Given the description of an element on the screen output the (x, y) to click on. 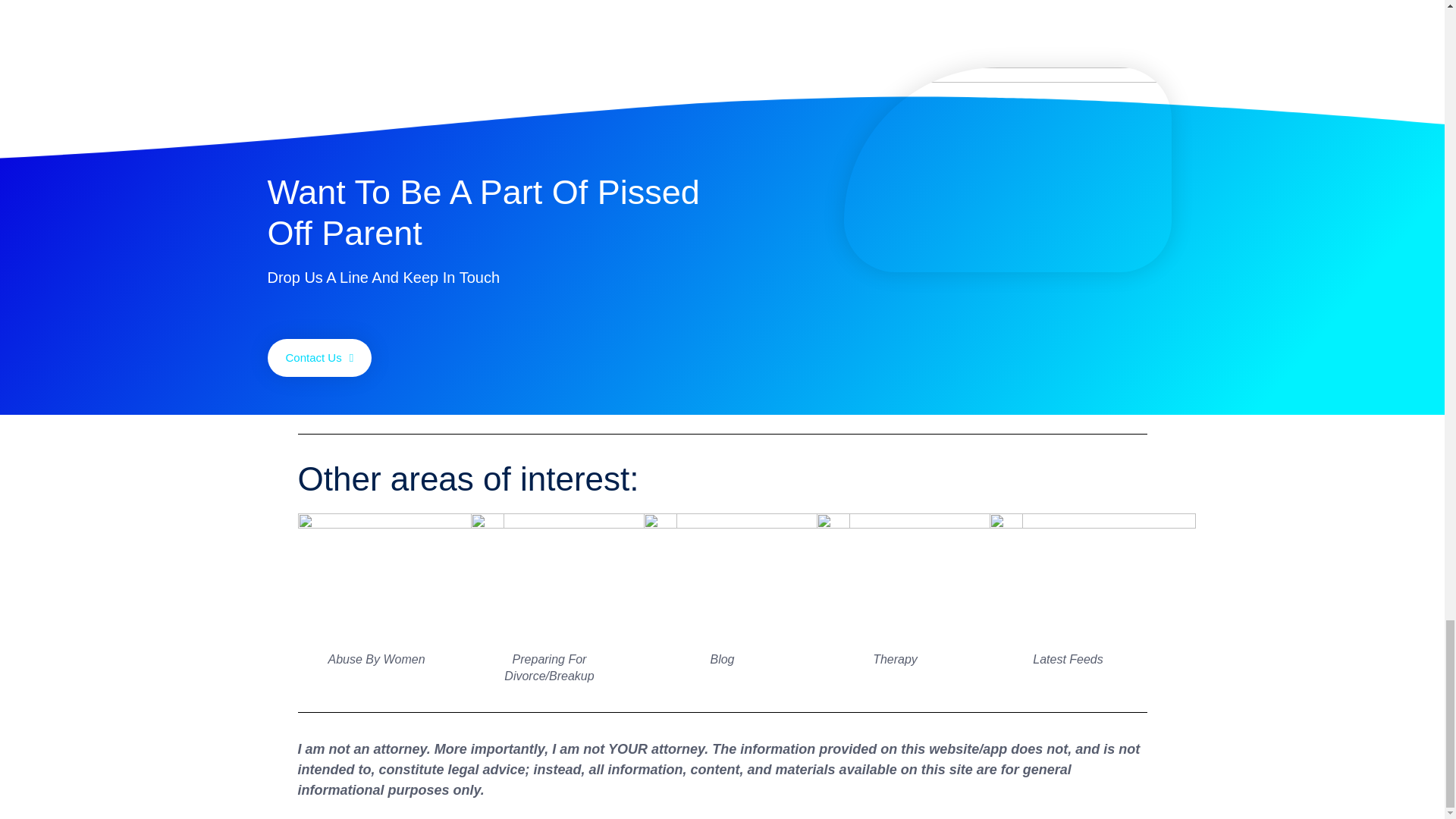
Contact Us (318, 357)
